Given the description of an element on the screen output the (x, y) to click on. 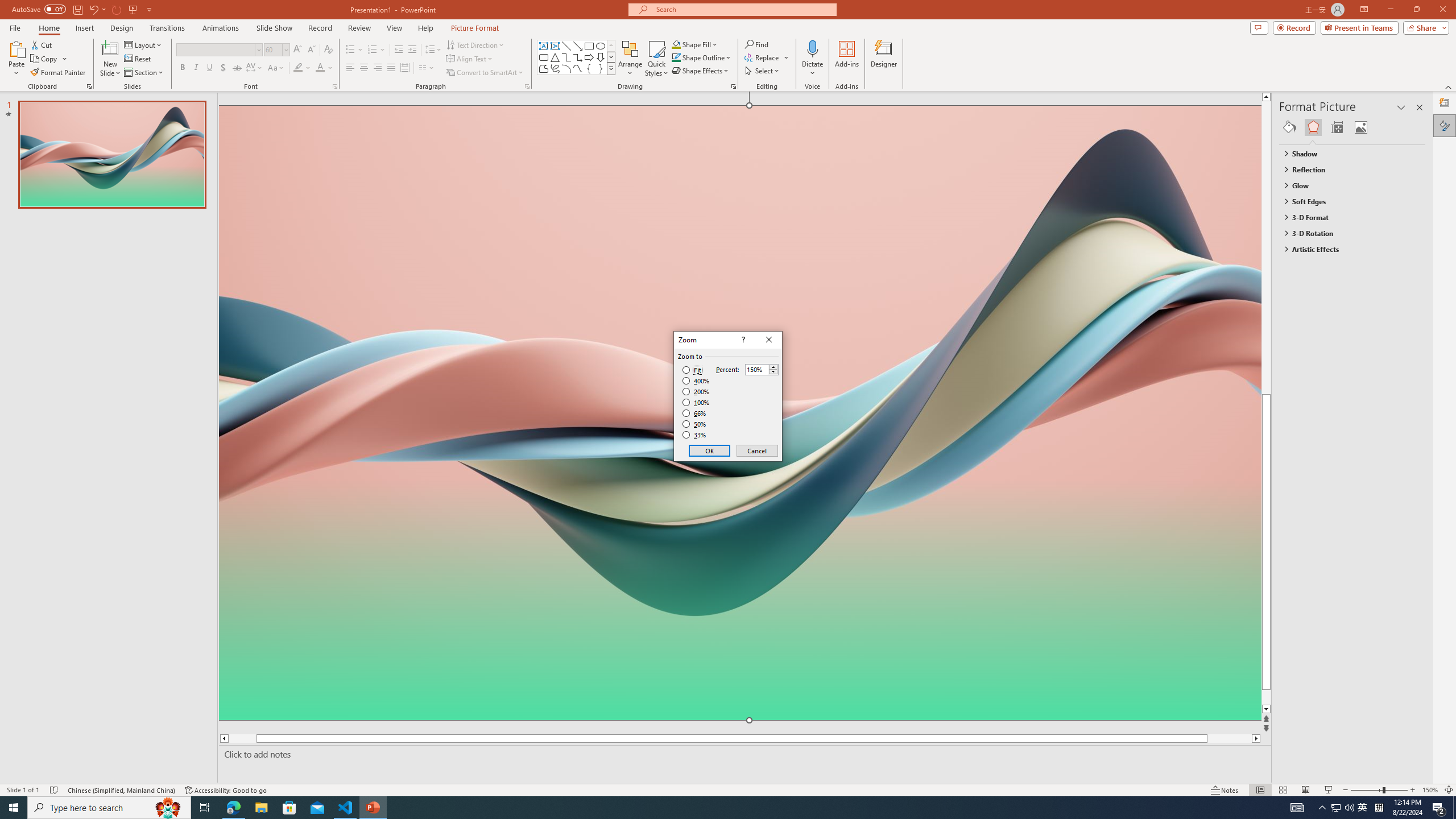
100% (696, 402)
Glow (1347, 185)
3-D Format (1347, 217)
